Given the description of an element on the screen output the (x, y) to click on. 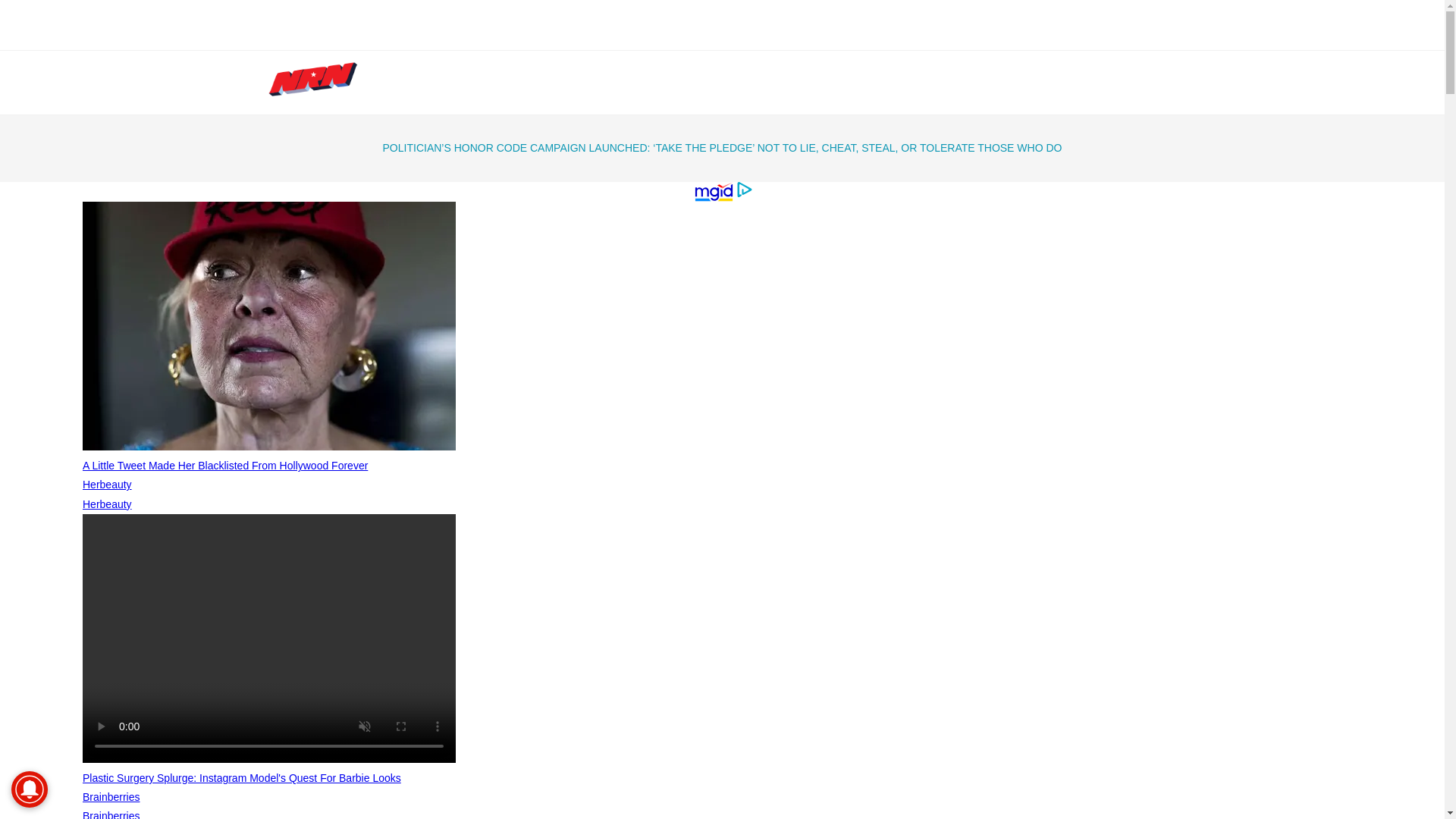
BIDENFLATION (771, 34)
CHINA (941, 34)
SUPPORT US (905, 82)
ABOUT (826, 82)
COLUMNISTS (740, 82)
NEWS (566, 82)
WRITE FOR US (1011, 82)
TRENDING: (518, 34)
COLUMNS (639, 82)
OPEN BORDER (868, 34)
TOGGLE WEBSITE SEARCH (1083, 82)
TUCKER CARLSON (665, 34)
TRUMP (581, 34)
